Given the description of an element on the screen output the (x, y) to click on. 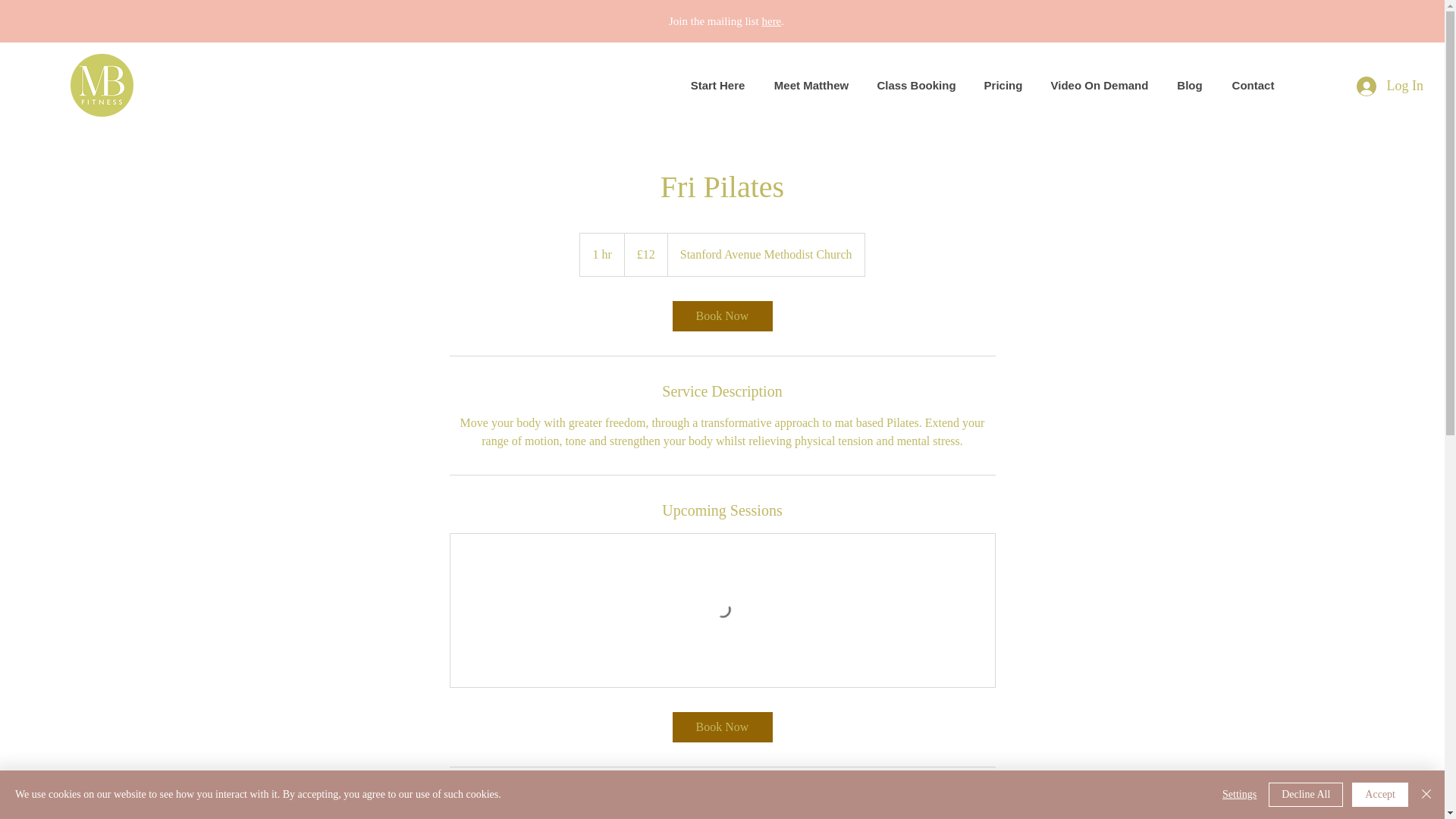
Log In (1389, 85)
Accept (1379, 794)
Blog (1189, 85)
Book Now (721, 726)
Start Here (717, 85)
Decline All (1305, 794)
Meet Matthew (810, 85)
Pricing (1002, 85)
Contact (1252, 85)
Book Now (721, 316)
